Given the description of an element on the screen output the (x, y) to click on. 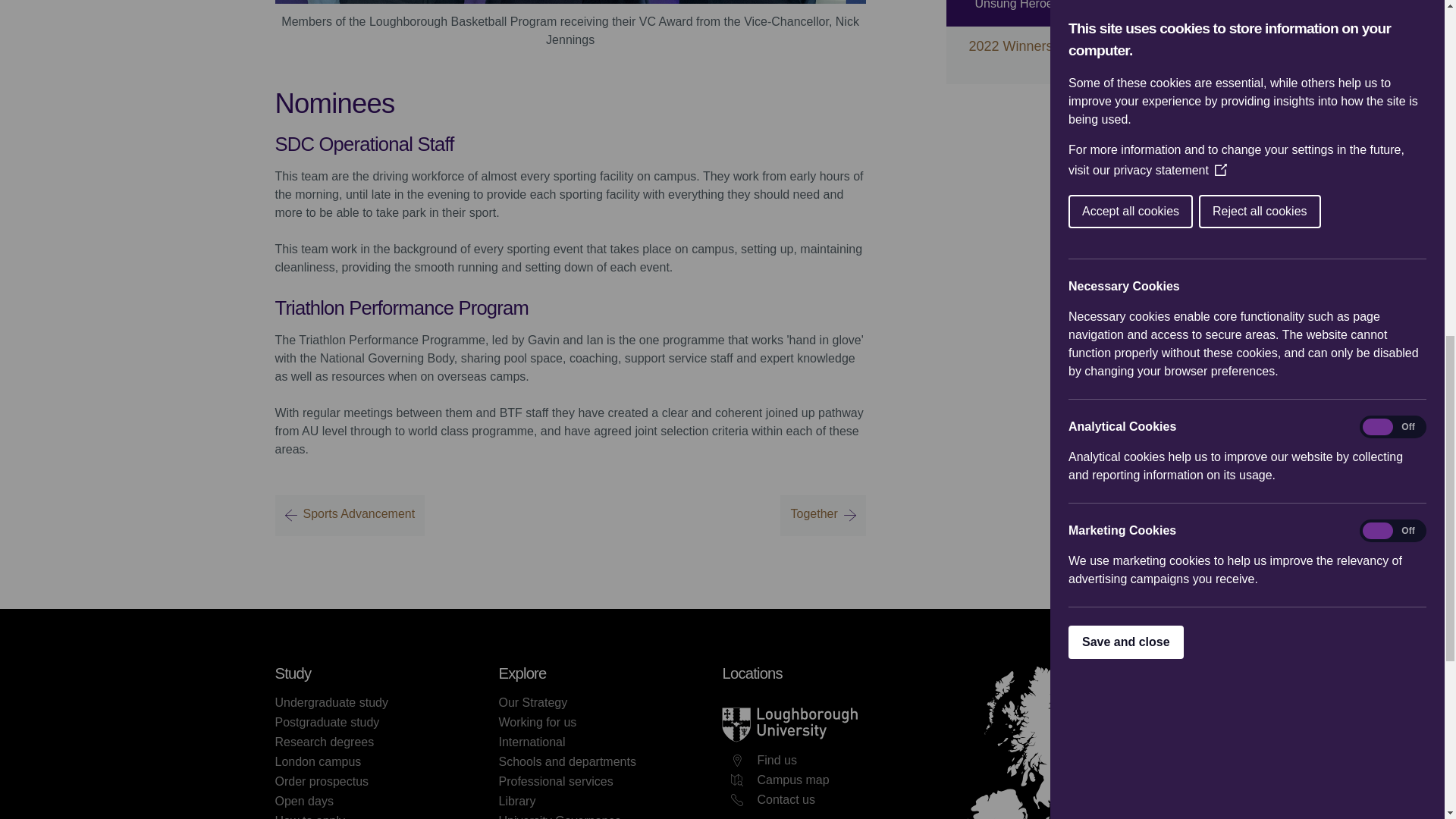
Together (822, 515)
Sports Advancement (350, 515)
